Given the description of an element on the screen output the (x, y) to click on. 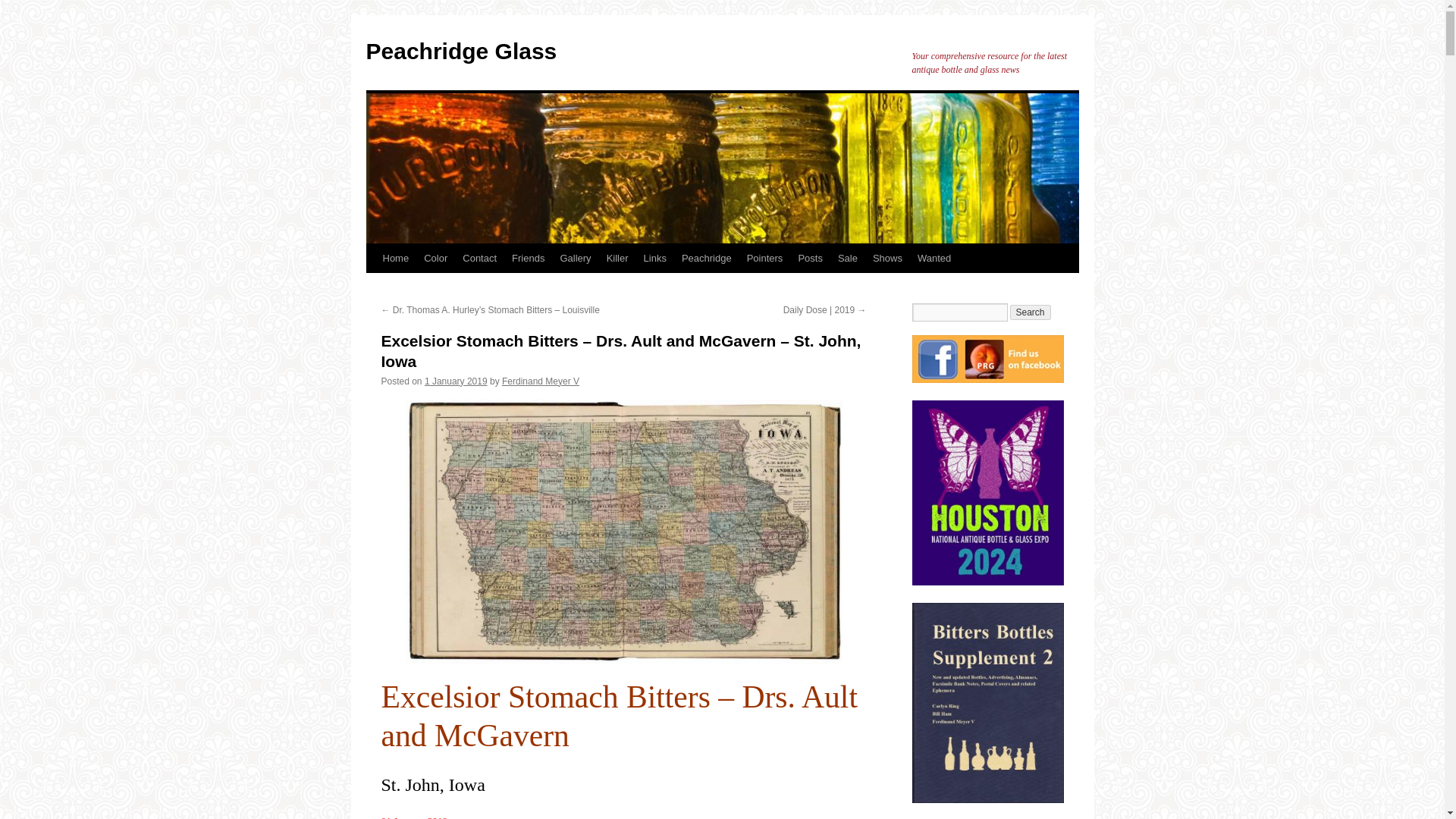
Color (435, 258)
Wanted (934, 258)
Pointers (764, 258)
Find Peachridge Glass on Facebook (986, 358)
Contact (478, 258)
Friends (527, 258)
Peachridge (706, 258)
Links (655, 258)
6:29 pm (456, 380)
1 January 2019 (456, 380)
